Given the description of an element on the screen output the (x, y) to click on. 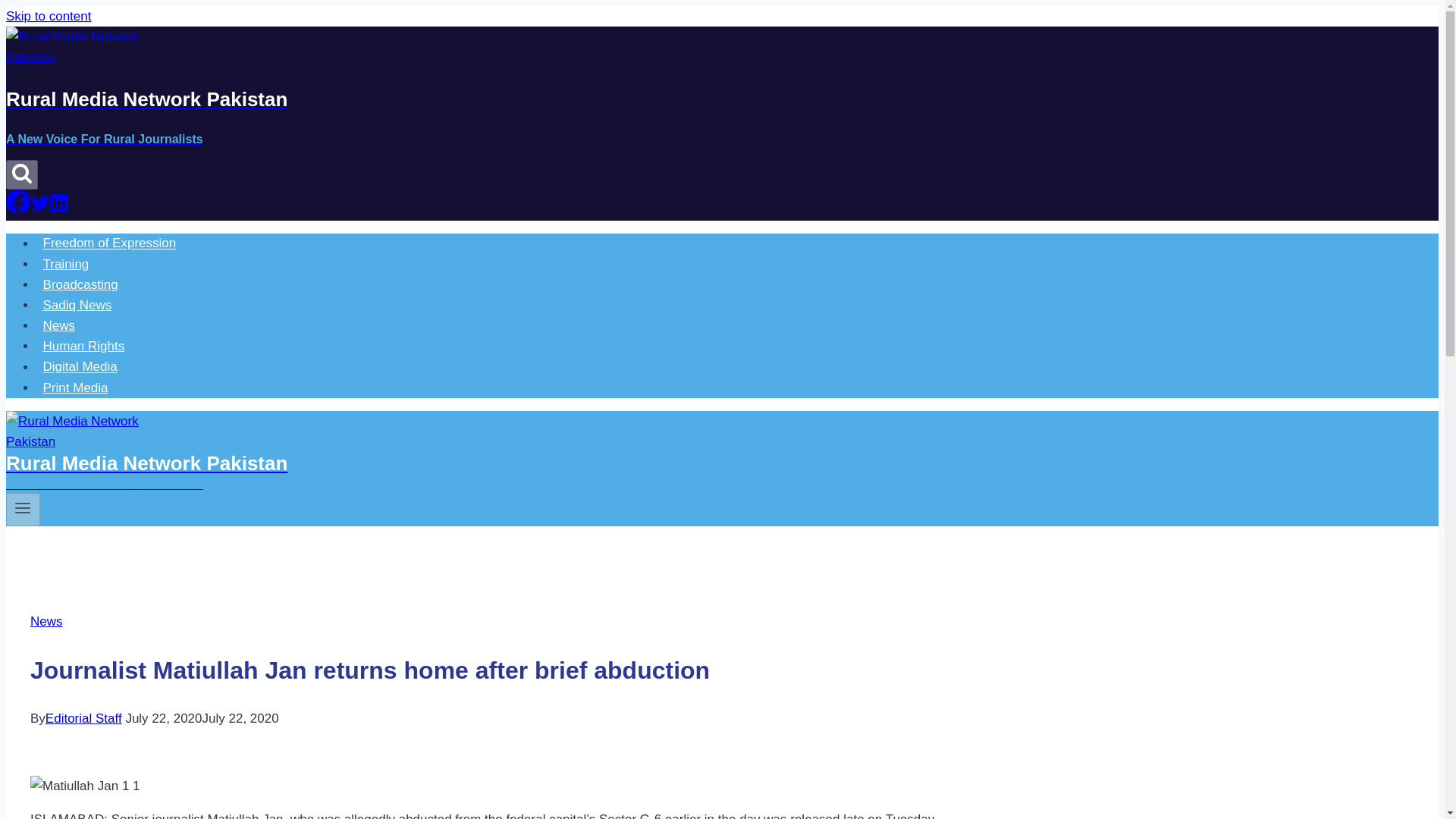
Twitter (39, 209)
Search (21, 174)
Freedom of Expression (109, 242)
News (46, 621)
Broadcasting (79, 284)
Editorial Staff (83, 718)
Skip to content (47, 16)
Skip to content (47, 16)
Training (66, 264)
News (58, 325)
